Given the description of an element on the screen output the (x, y) to click on. 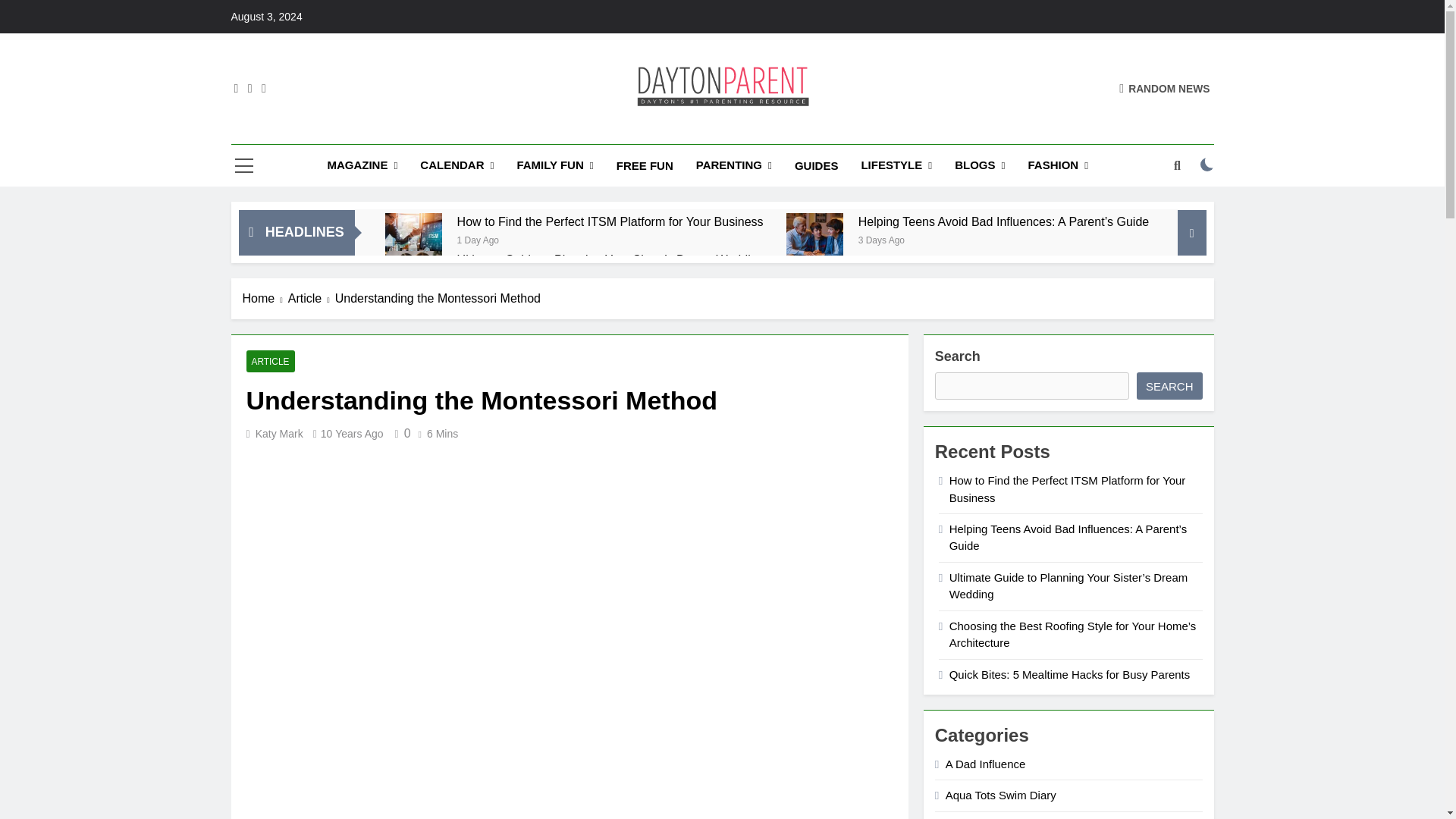
How to Find the Perfect ITSM Platform for Your Business (609, 221)
GUIDES (816, 165)
CALENDAR (457, 165)
FREE FUN (644, 165)
LIFESTYLE (895, 165)
RANDOM NEWS (1164, 88)
How to Find the Perfect ITSM Platform for Your Business (413, 241)
FAMILY FUN (554, 165)
Dayton Parent Magazine (662, 130)
on (1206, 164)
MAGAZINE (362, 165)
PARENTING (733, 165)
